Given the description of an element on the screen output the (x, y) to click on. 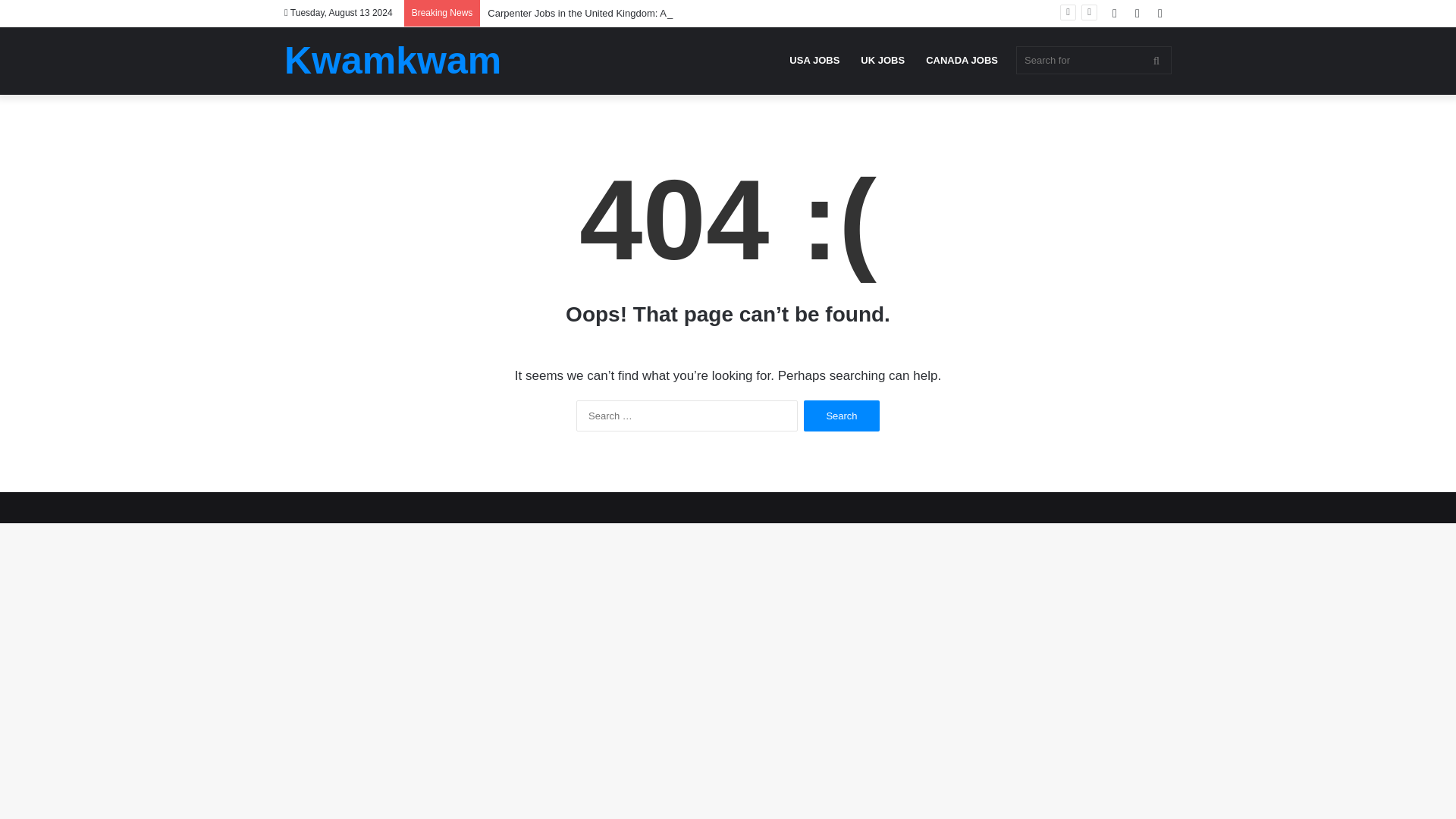
CANADA JOBS (962, 60)
UK JOBS (882, 60)
USA JOBS (814, 60)
Search (841, 415)
Search (841, 415)
Search (841, 415)
Carpenter Jobs in the United Kingdom: A Comprehensive Guide (627, 12)
Kwamkwam (391, 60)
Search for (1094, 59)
Kwamkwam (391, 60)
